Given the description of an element on the screen output the (x, y) to click on. 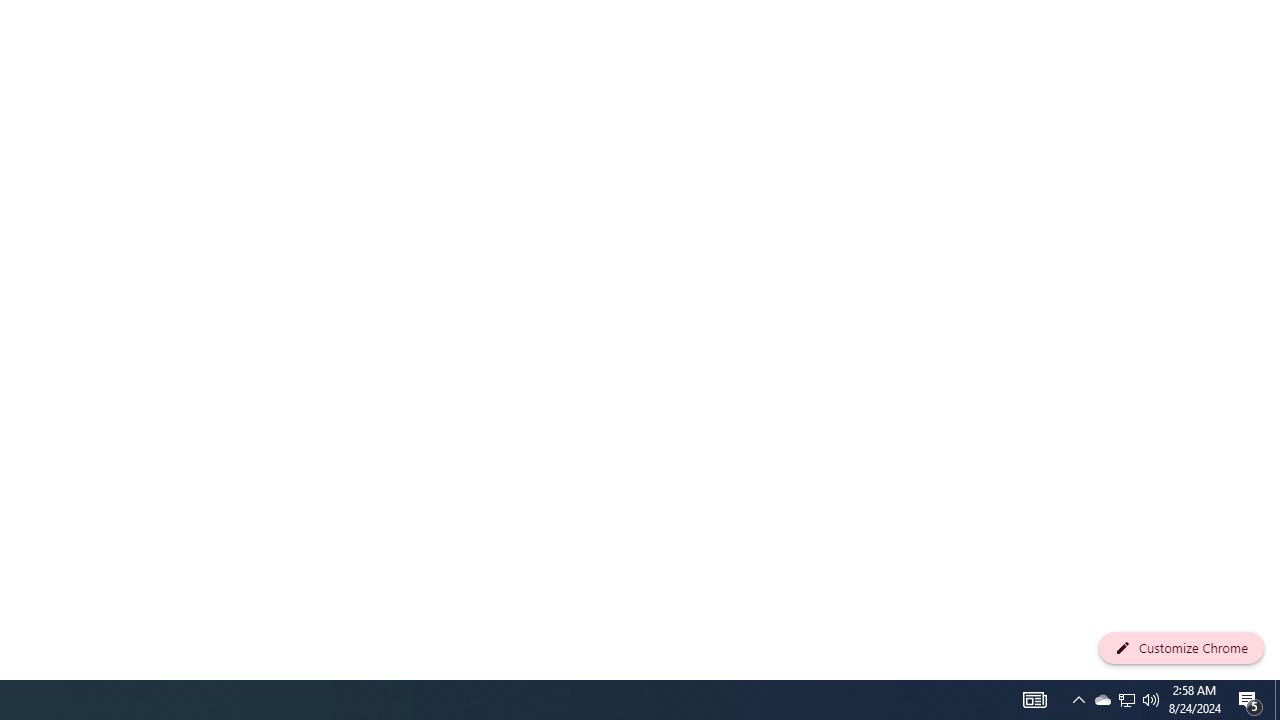
Customize Chrome (1181, 647)
